Given the description of an element on the screen output the (x, y) to click on. 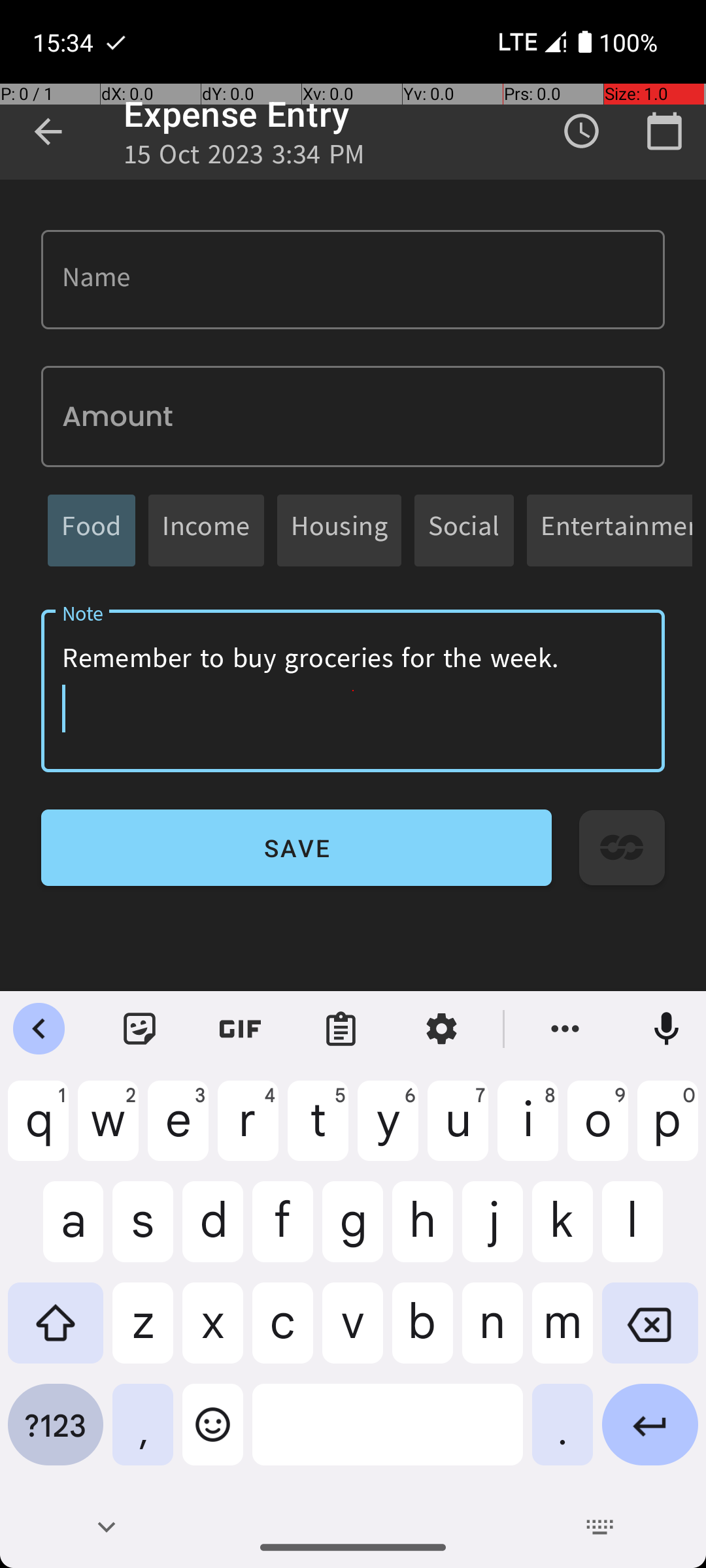
Remember to buy groceries for the week.
 Element type: android.widget.EditText (352, 690)
